Given the description of an element on the screen output the (x, y) to click on. 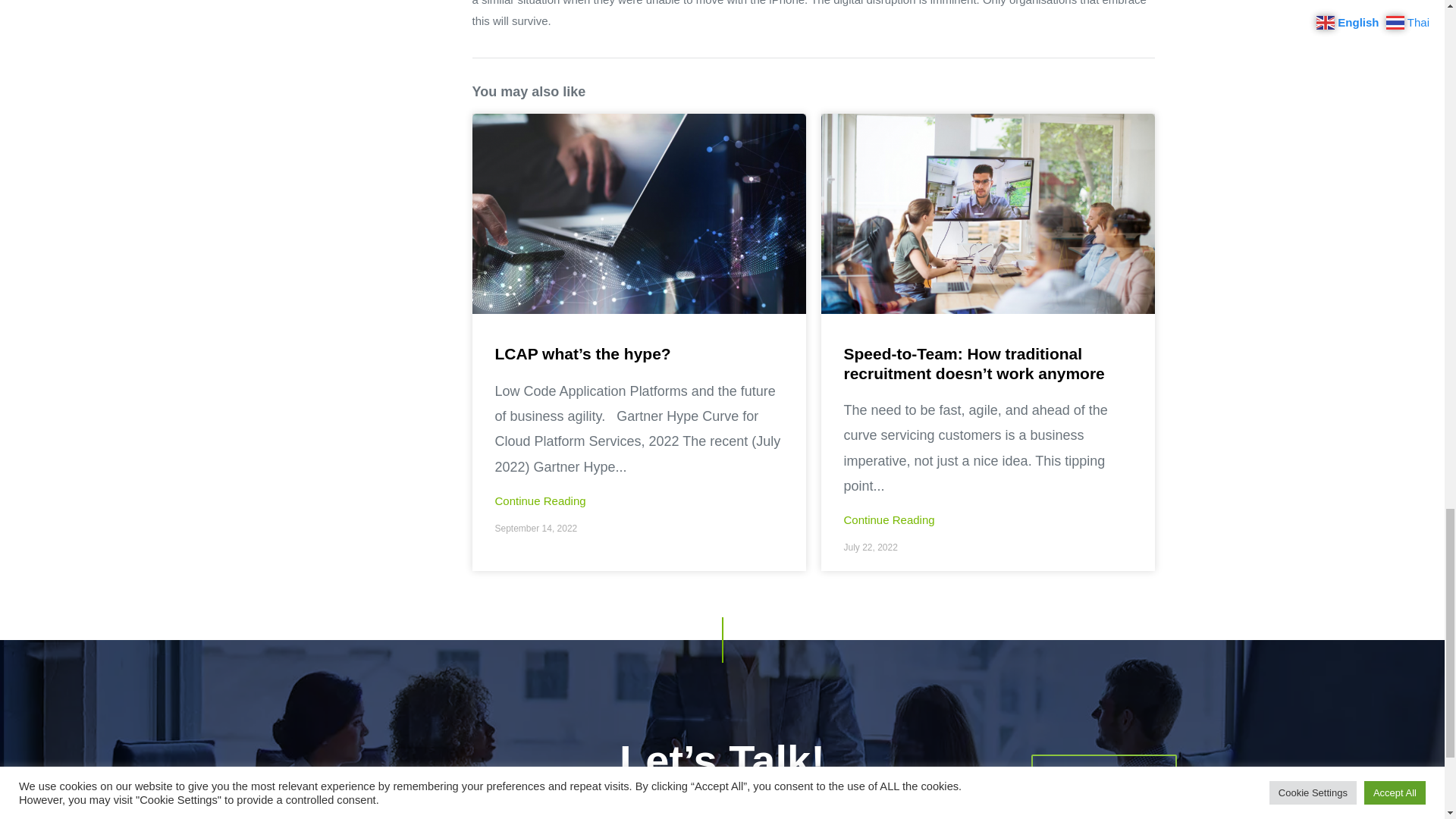
3:44 AM (535, 528)
3:40 AM (869, 547)
